Given the description of an element on the screen output the (x, y) to click on. 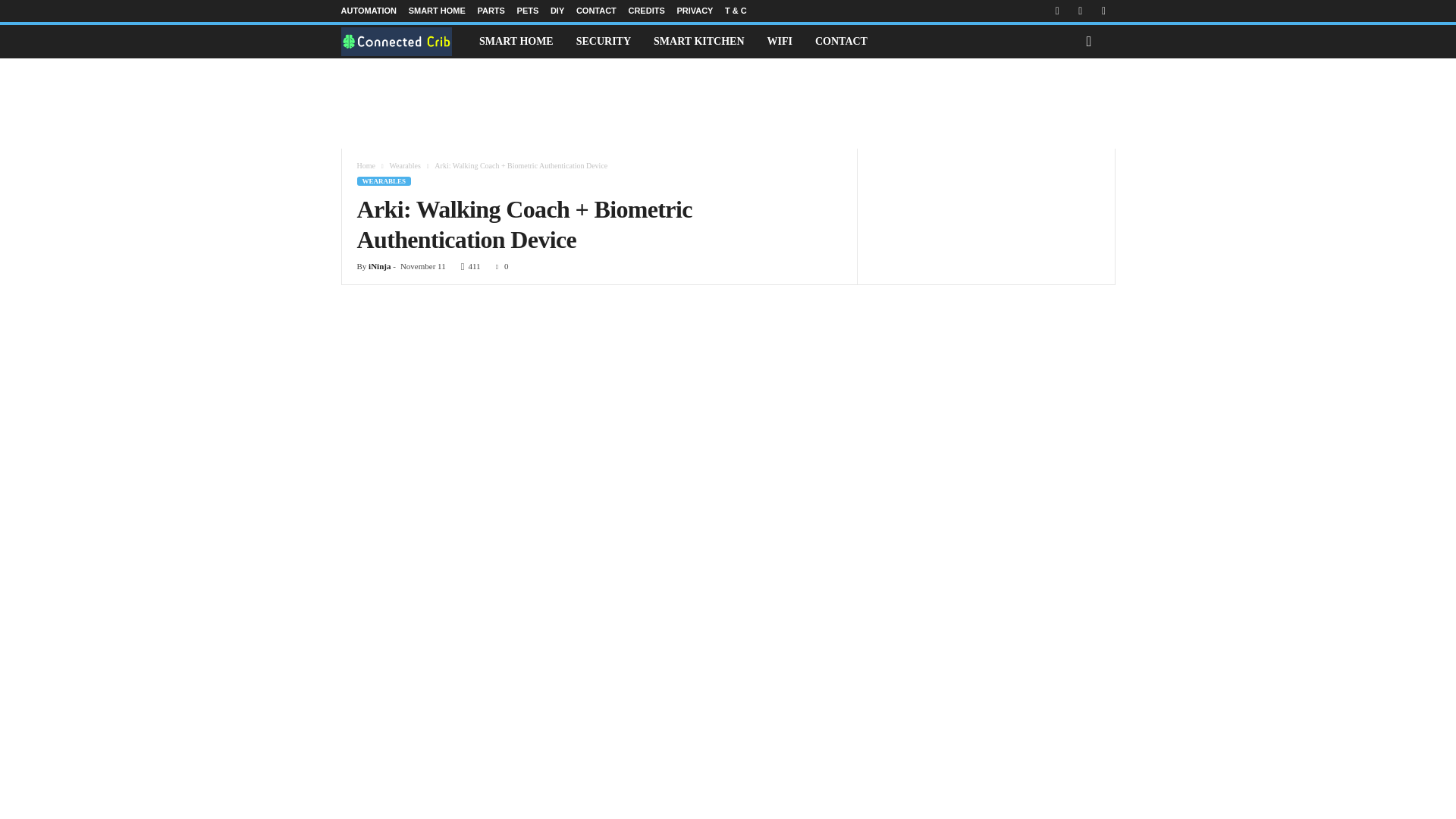
SMART HOME (515, 41)
AUTOMATION (368, 10)
SMART HOME (437, 10)
CONTACT (595, 10)
PRIVACY (695, 10)
DIY (557, 10)
CREDITS (645, 10)
Connected Crib (404, 41)
PARTS (490, 10)
PETS (527, 10)
